Given the description of an element on the screen output the (x, y) to click on. 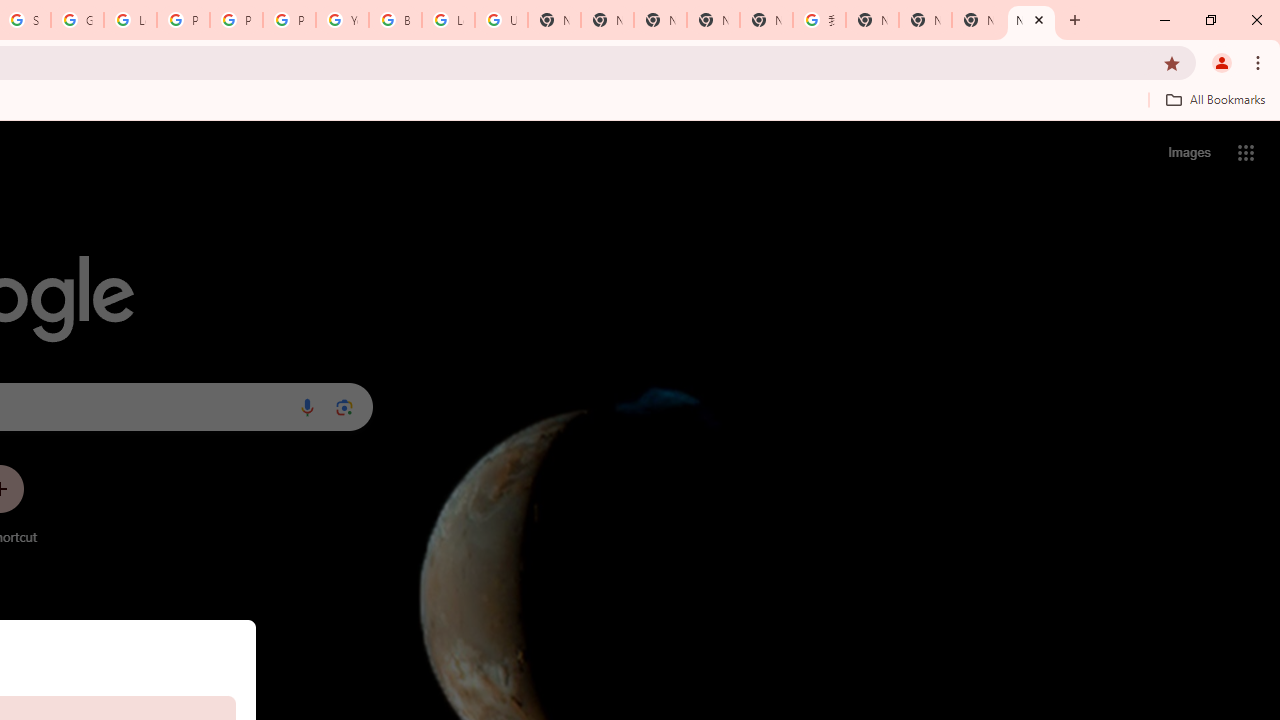
Privacy Help Center - Policies Help (235, 20)
